Given the description of an element on the screen output the (x, y) to click on. 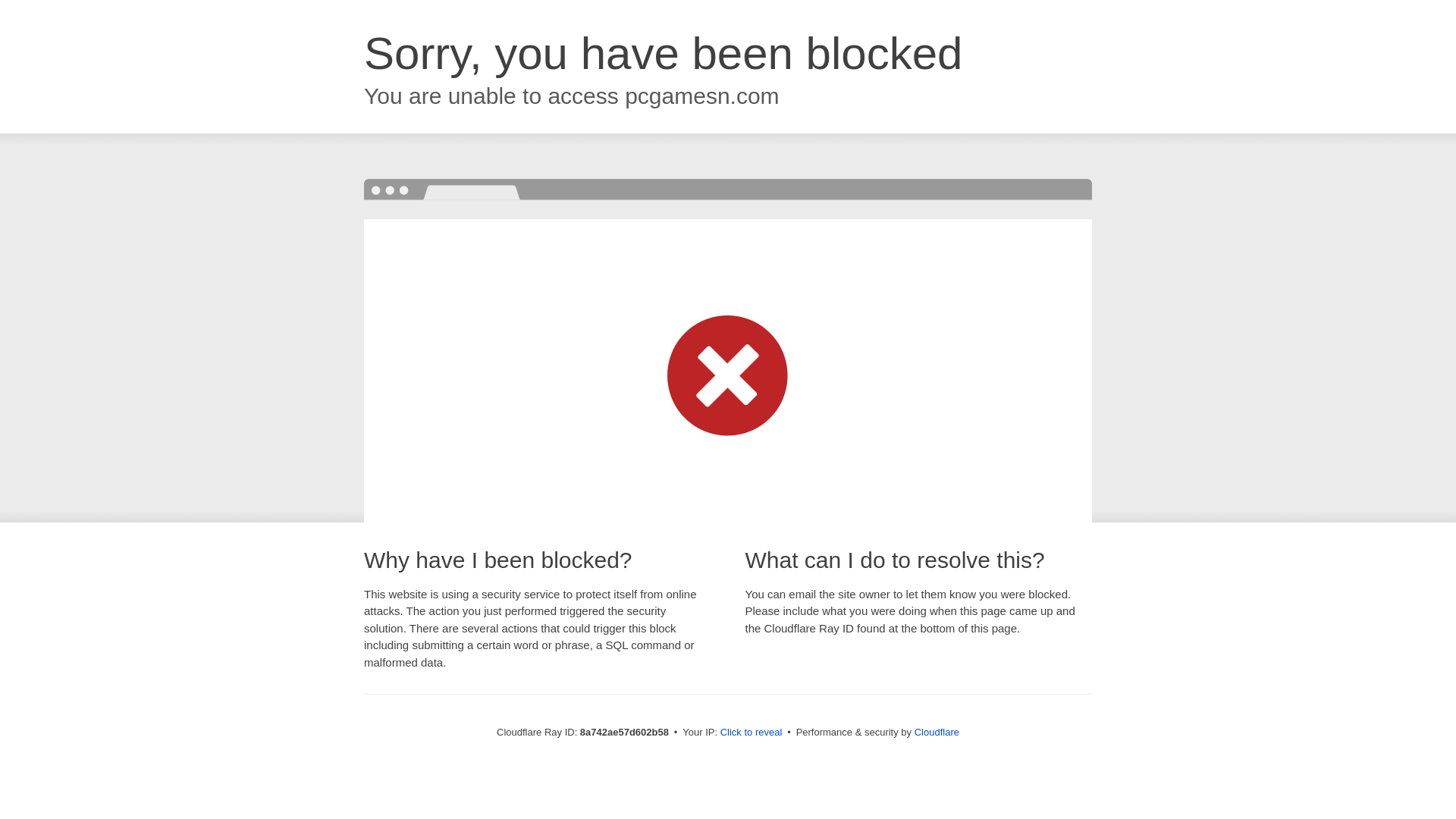
Cloudflare (936, 731)
Click to reveal (751, 732)
